Given the description of an element on the screen output the (x, y) to click on. 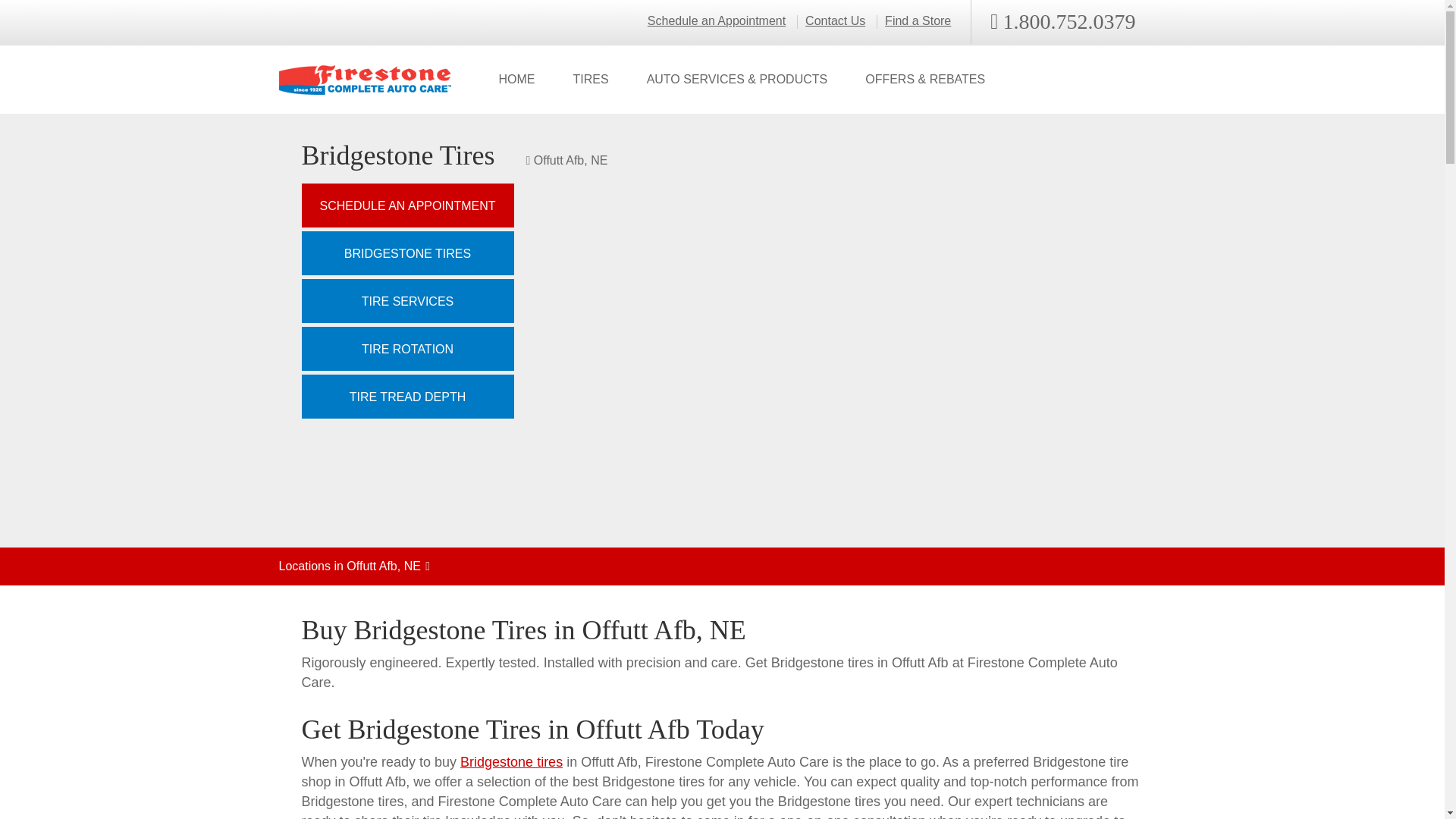
Contact Us (834, 20)
Firestone Complete Auto Care (365, 80)
TIRE SERVICES (407, 300)
SCHEDULE AN APPOINTMENT (407, 205)
Schedule an Appointment (716, 20)
TIRE ROTATION (407, 348)
HOME (516, 79)
Find a Store (918, 20)
1.800.752.0379 (1062, 22)
BRIDGESTONE TIRES (407, 252)
